Given the description of an element on the screen output the (x, y) to click on. 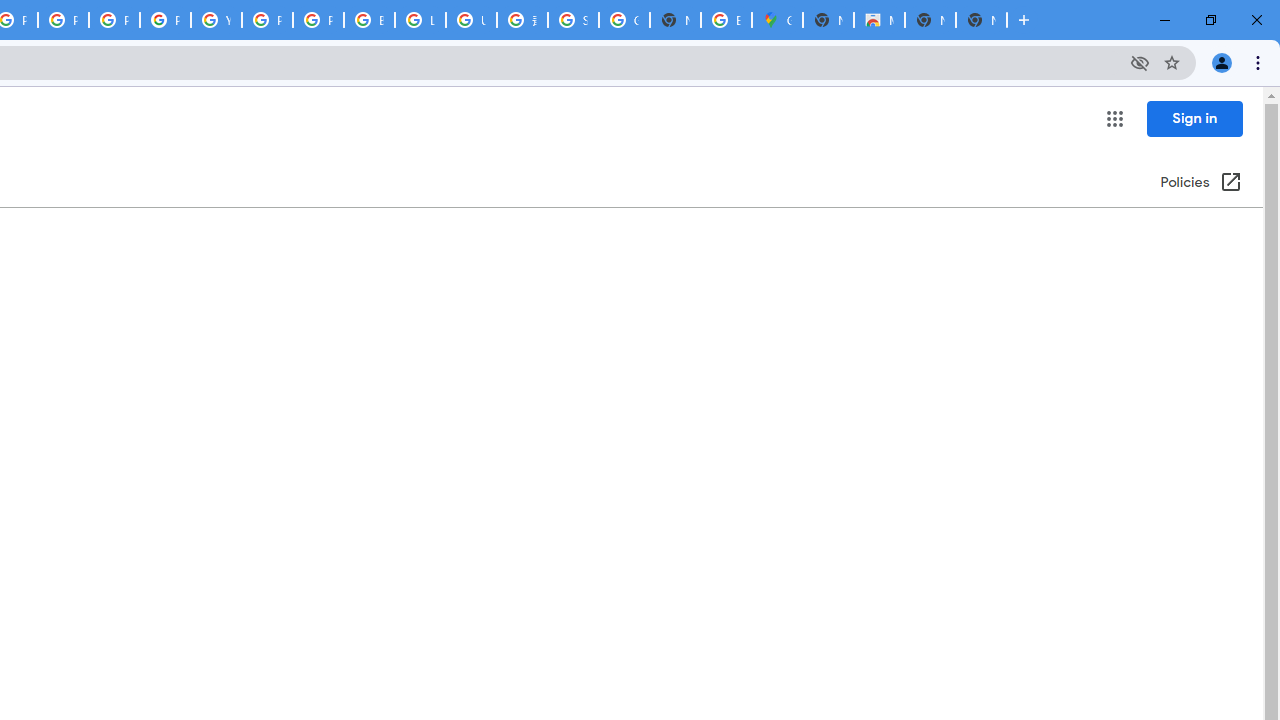
New Tab (827, 20)
New Tab (981, 20)
Google Maps (776, 20)
YouTube (215, 20)
Policies (Open in a new window) (1200, 183)
Explore new street-level details - Google Maps Help (726, 20)
